Given the description of an element on the screen output the (x, y) to click on. 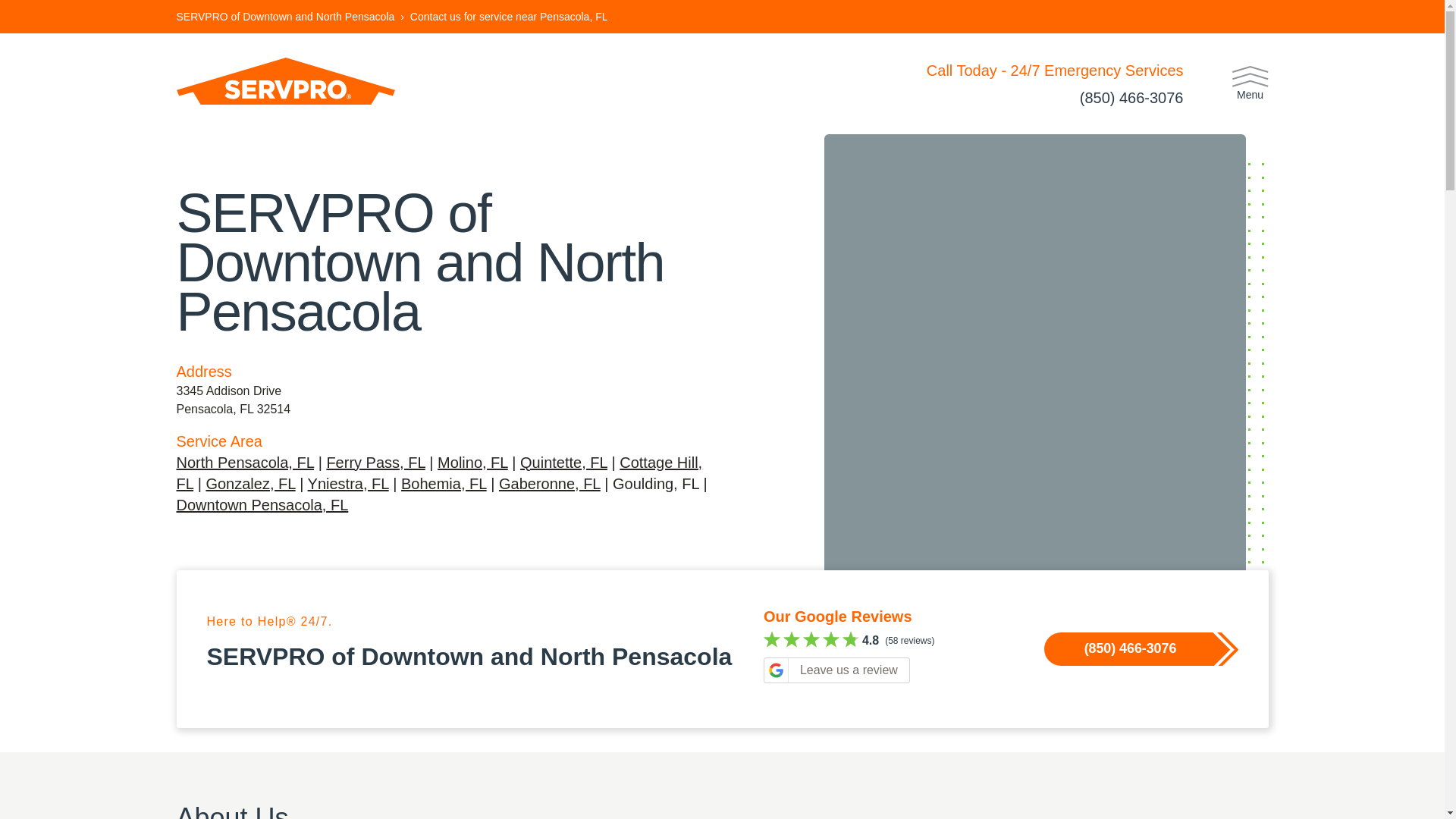
SERVPRO of Downtown and North Pensacola (285, 16)
Menu (1249, 83)
